Given the description of an element on the screen output the (x, y) to click on. 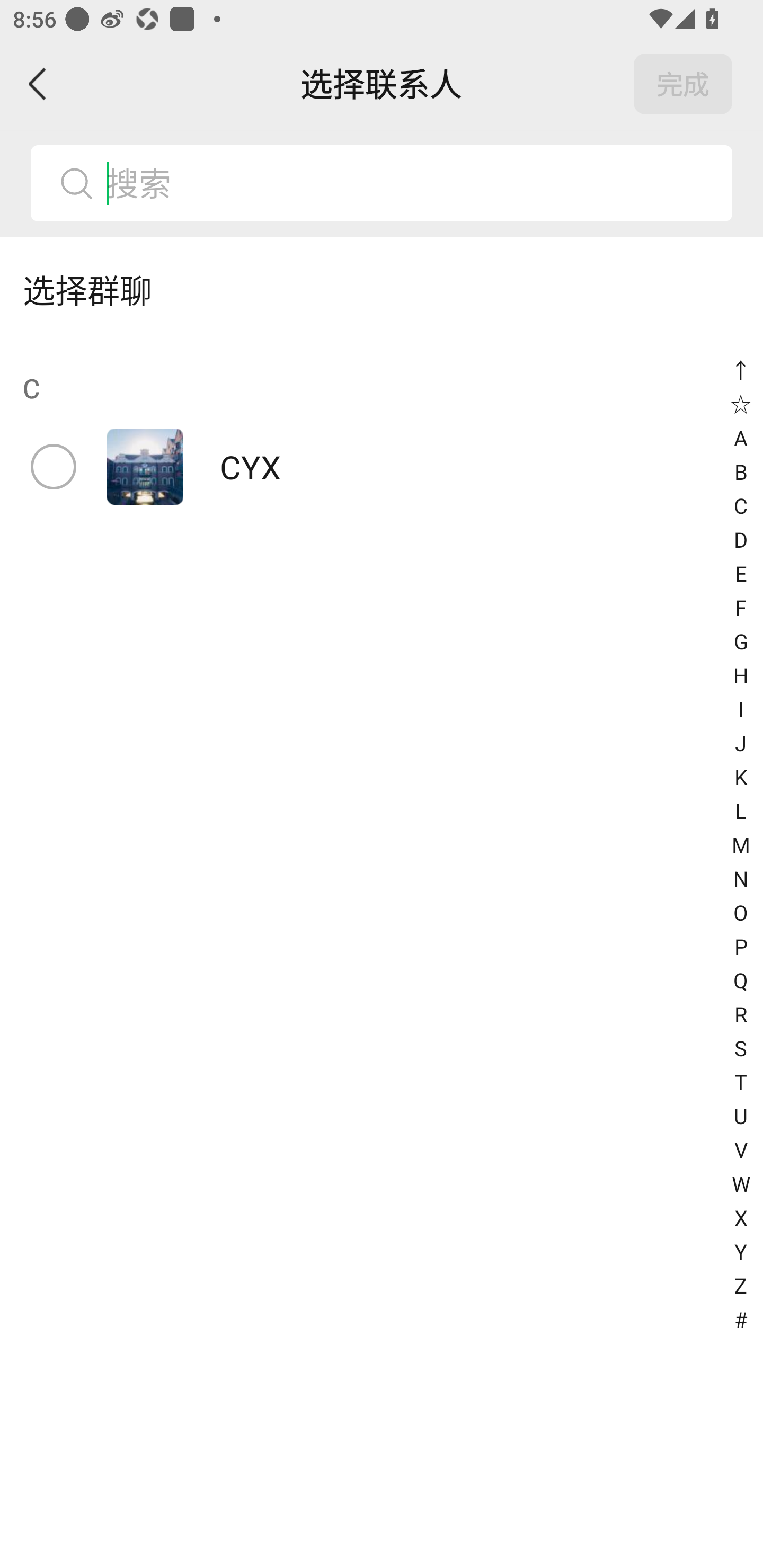
返回 (38, 83)
完成 (683, 83)
搜索 (381, 183)
搜索 (411, 183)
选择群聊 (381, 290)
C CYX (381, 432)
